Given the description of an element on the screen output the (x, y) to click on. 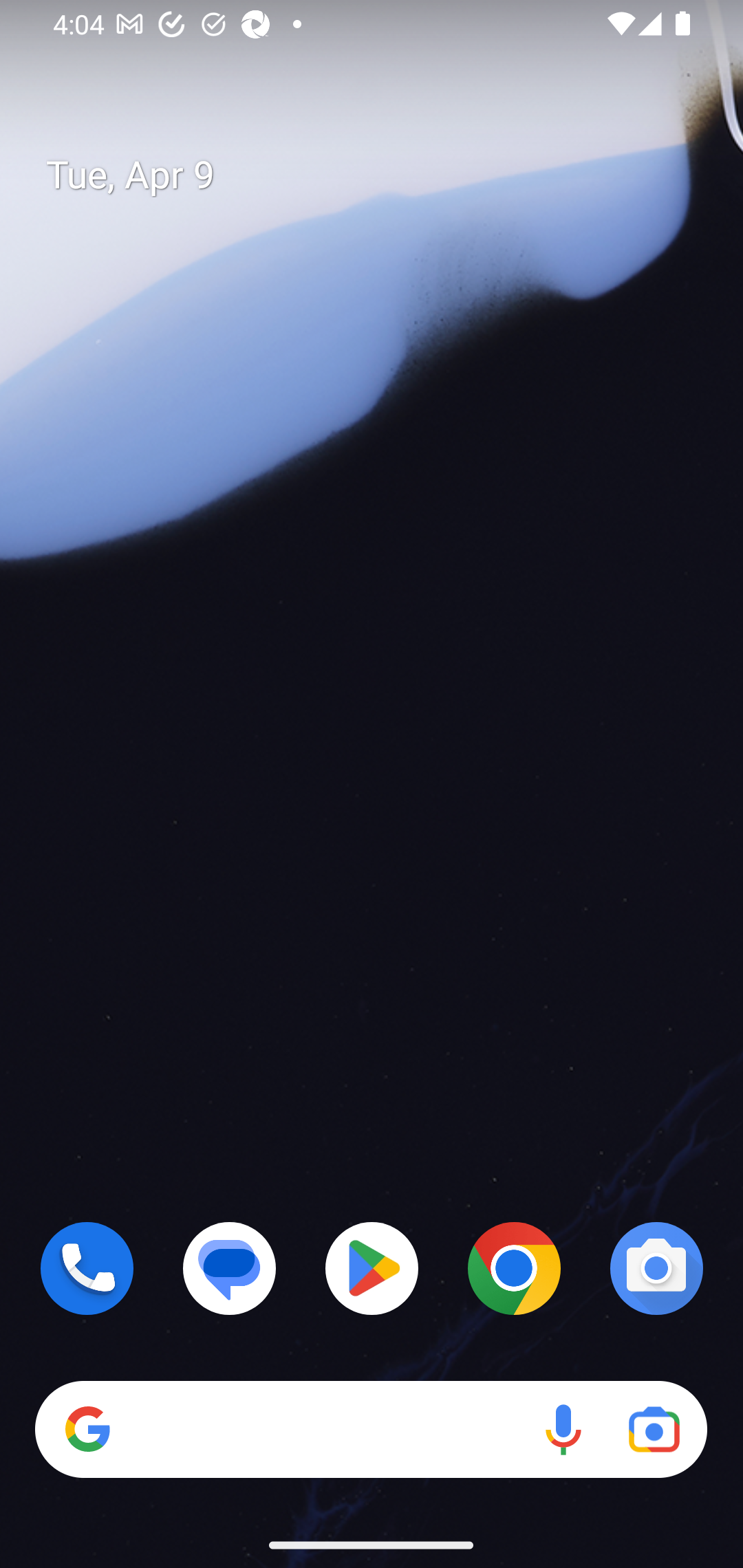
Tue, Apr 9 (386, 175)
Phone (86, 1268)
Messages (229, 1268)
Play Store (371, 1268)
Chrome (513, 1268)
Camera (656, 1268)
Voice search (562, 1429)
Google Lens (653, 1429)
